Given the description of an element on the screen output the (x, y) to click on. 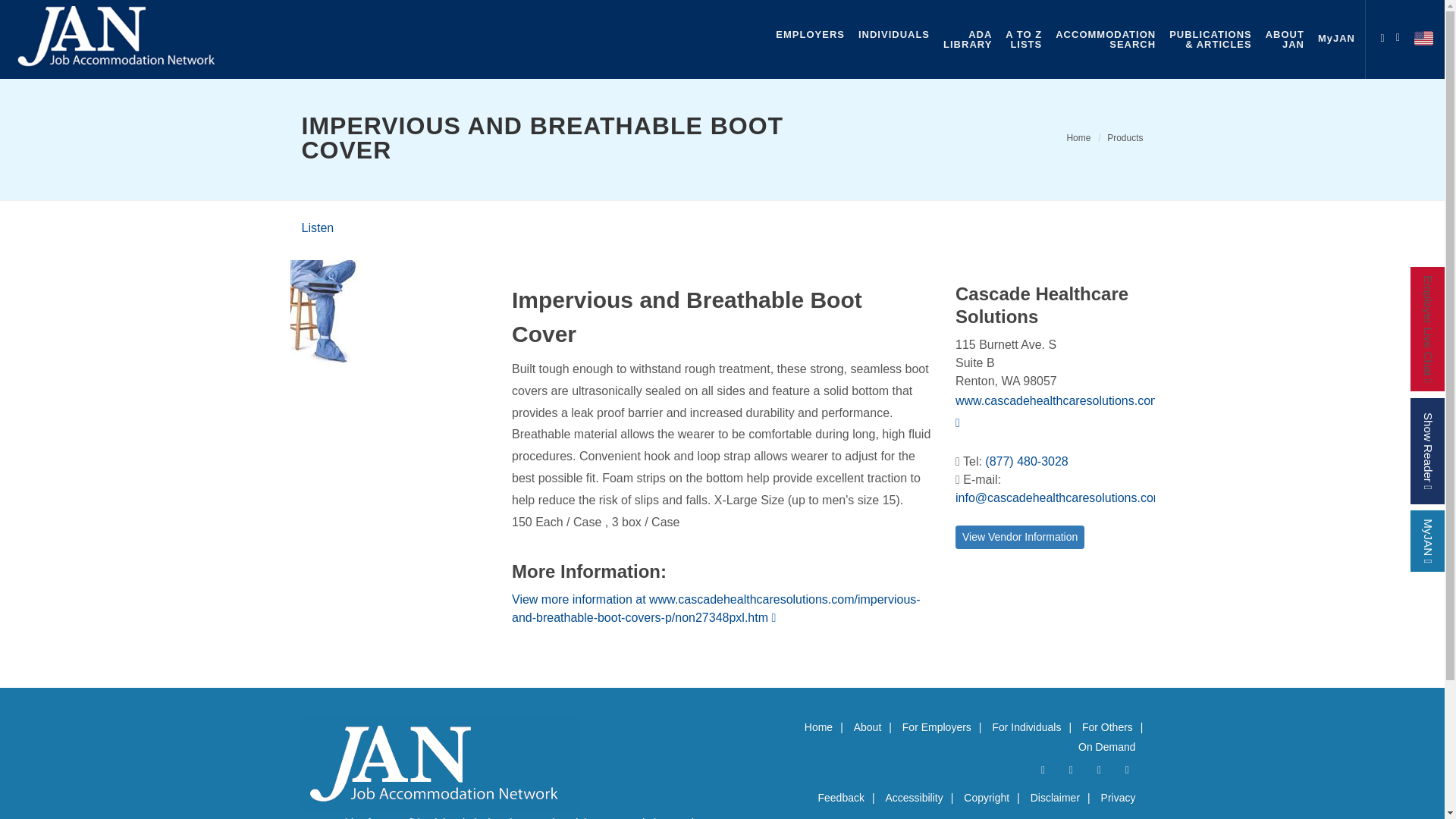
INDIVIDUALS (893, 34)
Open Menu (1105, 39)
Open Search (1382, 35)
EMPLOYERS (1401, 35)
Home (810, 34)
Listen (1077, 137)
www.cascadehealthcaresolutions.com (317, 227)
Products (1057, 411)
Listen to this page using ReadSpeaker webReader (1124, 137)
